Given the description of an element on the screen output the (x, y) to click on. 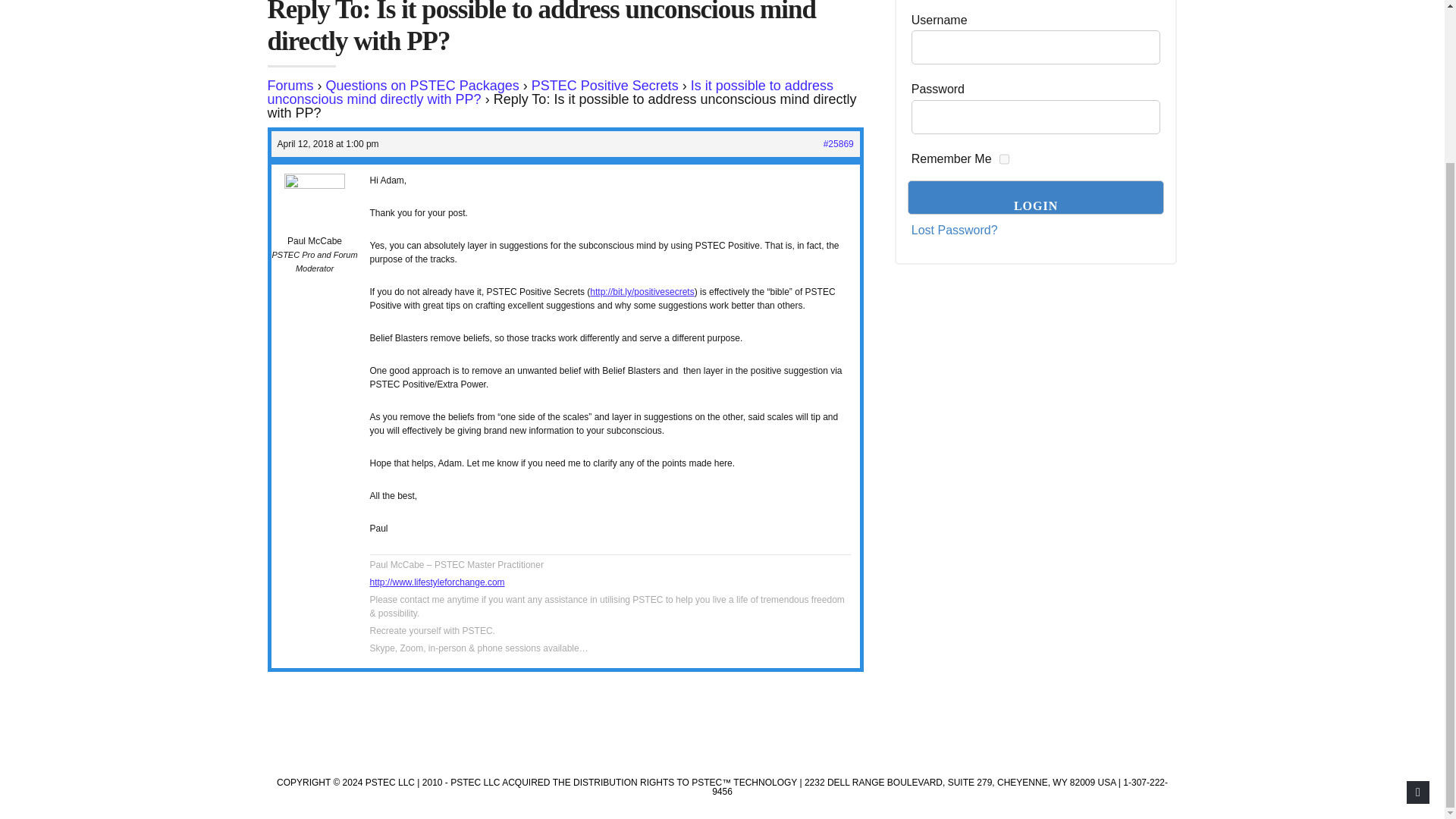
Please enter password (1035, 116)
Please enter username (1035, 47)
Login (1035, 197)
Questions on PSTEC Packages (422, 85)
Lost Password? (954, 230)
Is it possible to address unconscious mind directly with PP? (549, 92)
PSTEC Positive Secrets (604, 85)
Forums (289, 85)
Login (1035, 197)
